Given the description of an element on the screen output the (x, y) to click on. 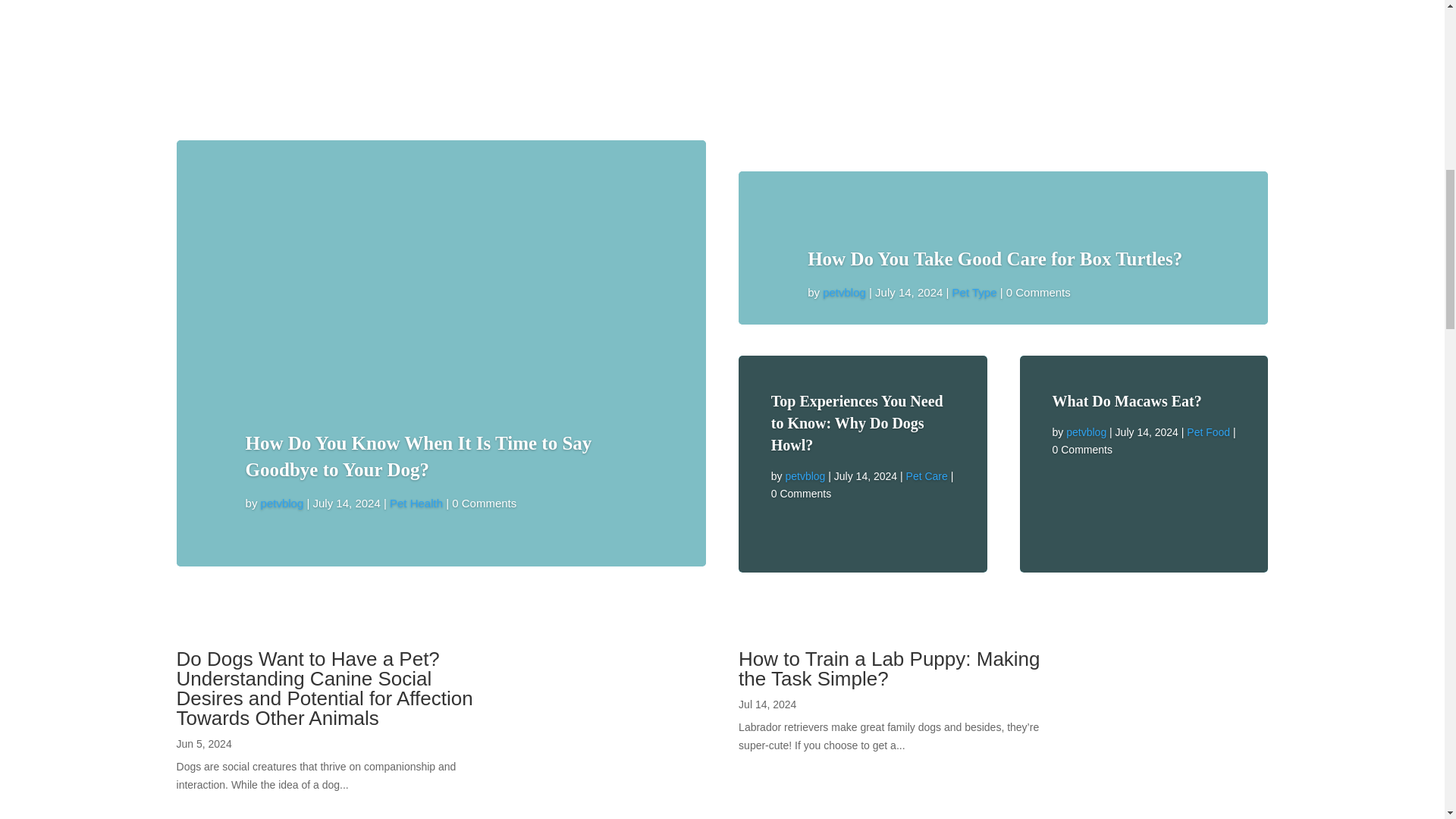
Posts by petvblog (282, 502)
